Given the description of an element on the screen output the (x, y) to click on. 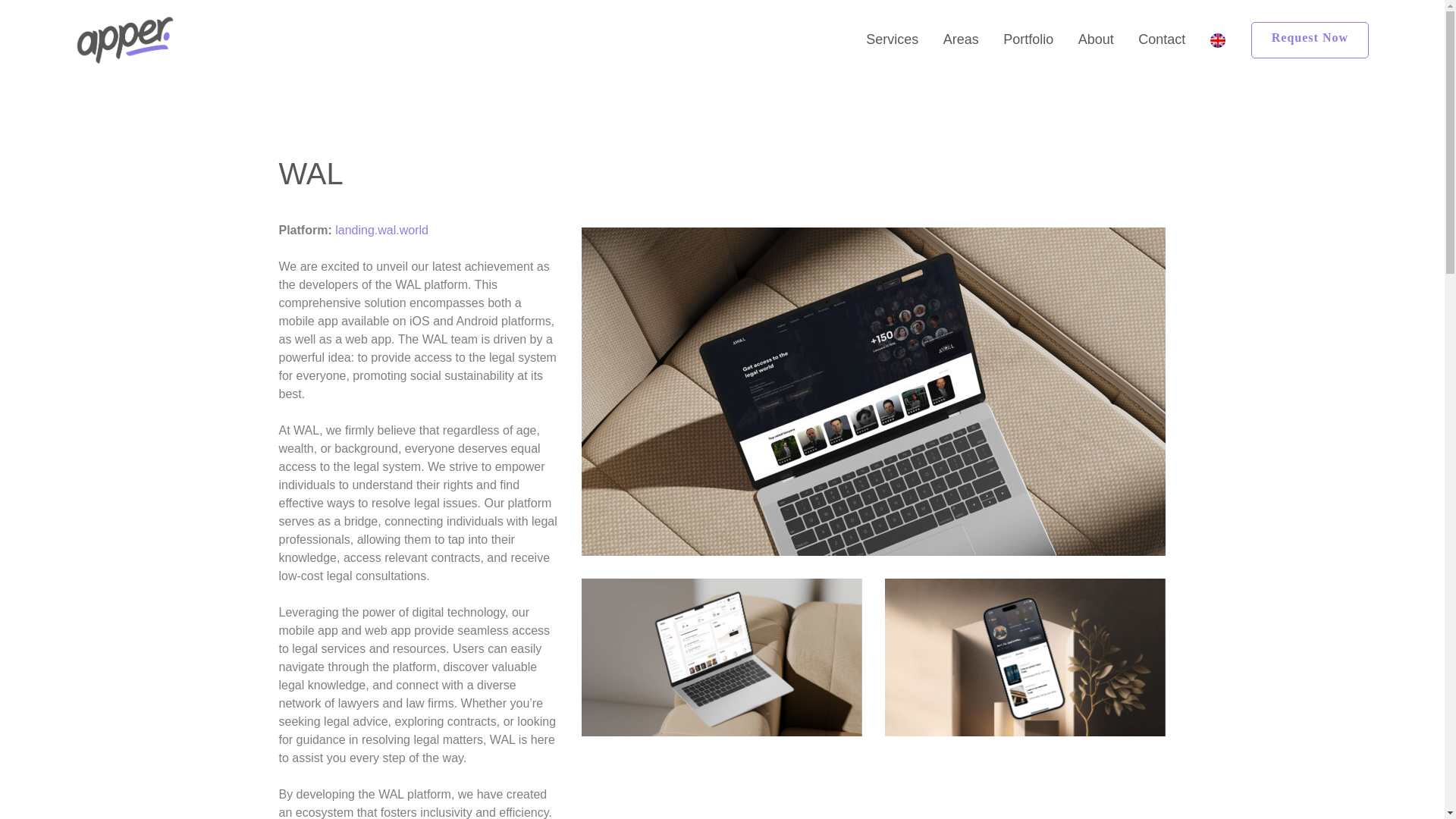
landing.wal.world (381, 229)
Request Now (1309, 40)
Areas (961, 39)
Contact (1160, 39)
Services (892, 39)
About (1095, 39)
Portfolio (1028, 39)
